Given the description of an element on the screen output the (x, y) to click on. 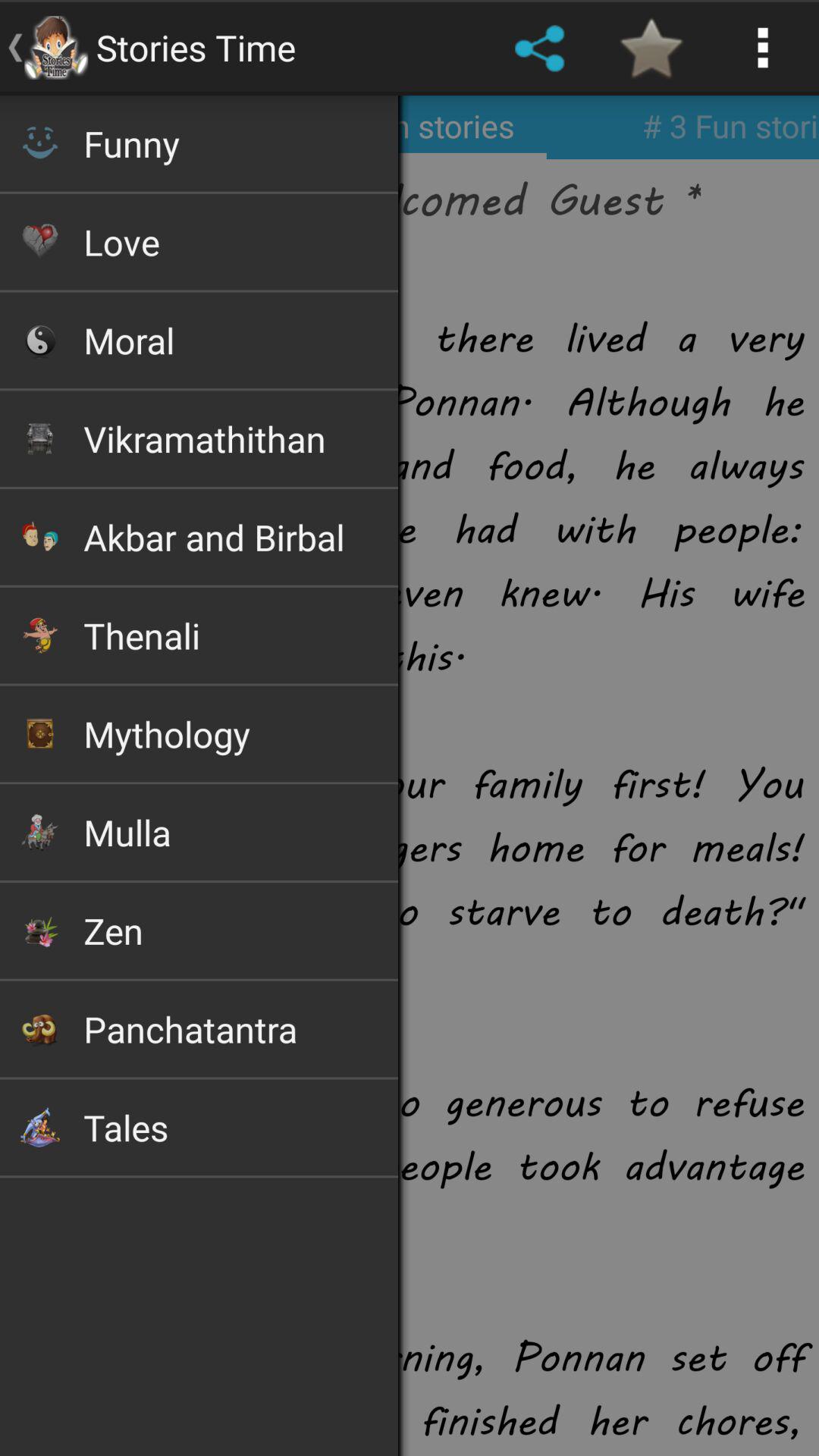
image left to zen (39, 931)
go to image left side of love (39, 240)
click on image left to thenali (39, 635)
select image left to mythology (39, 733)
choose the fourth image from the bottom (39, 832)
click on image left side of panchatantra (39, 1028)
